Given the description of an element on the screen output the (x, y) to click on. 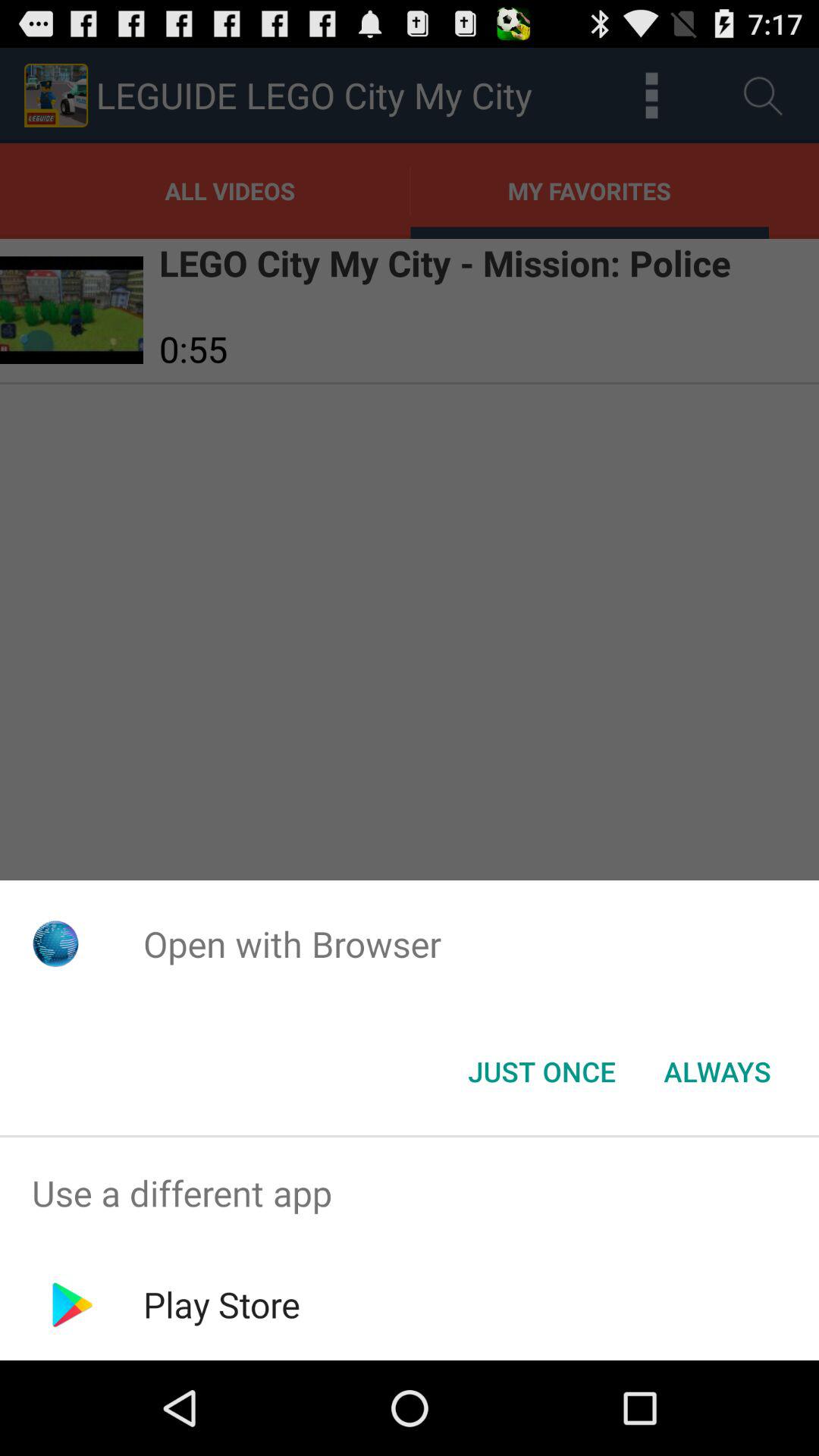
tap just once icon (541, 1071)
